Given the description of an element on the screen output the (x, y) to click on. 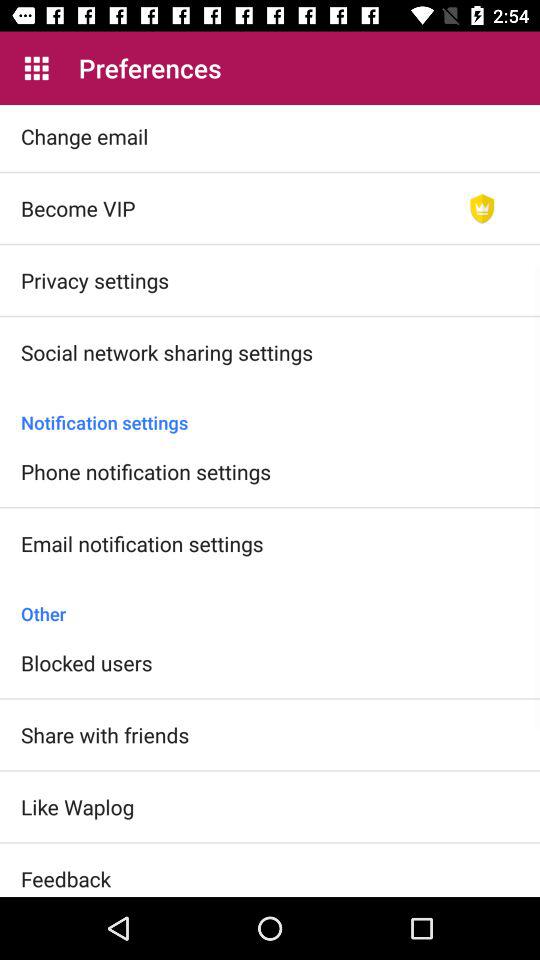
click the icon above the change email item (36, 68)
